Given the description of an element on the screen output the (x, y) to click on. 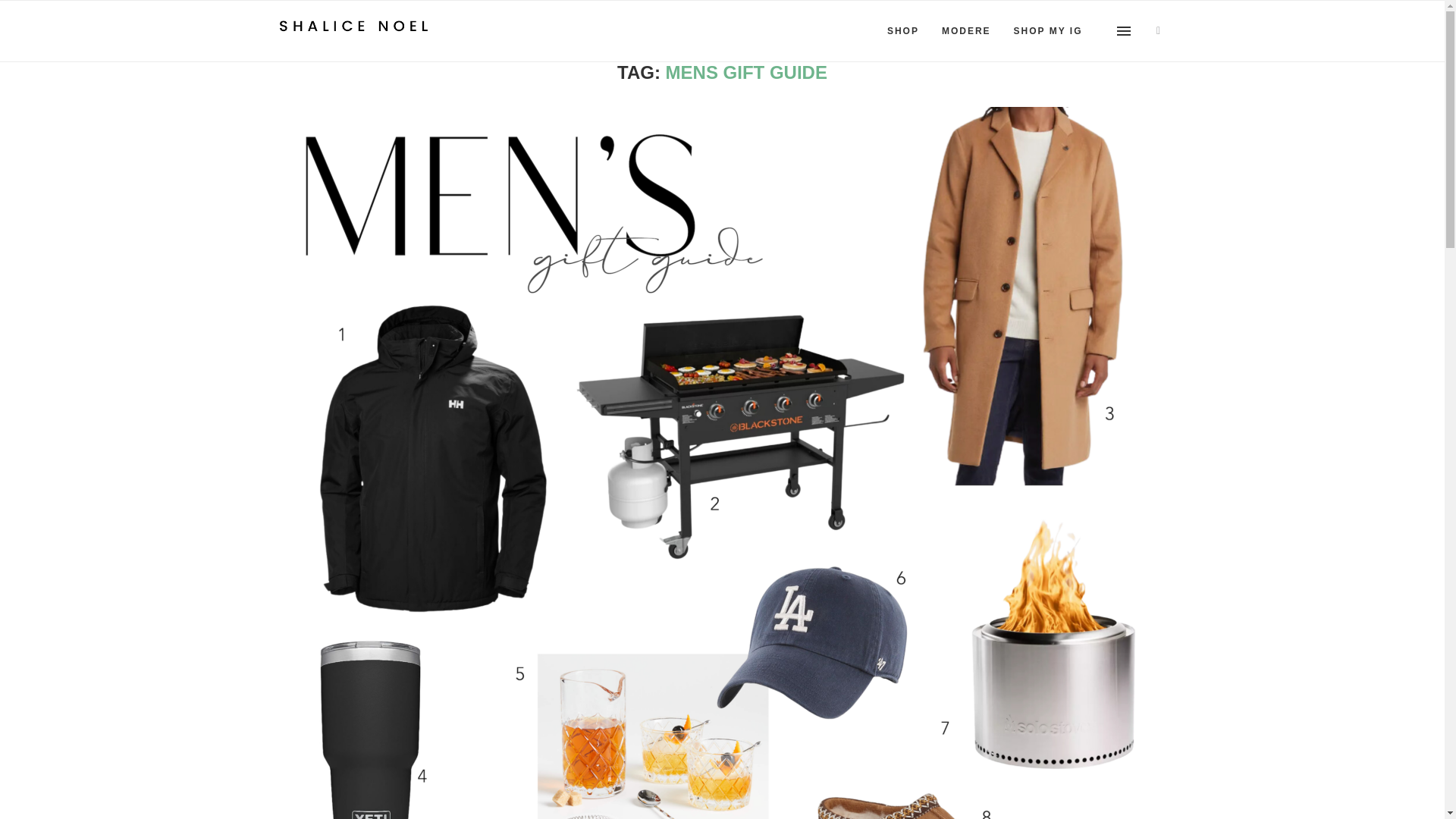
SHOP (902, 30)
MODERE (966, 30)
SHOP MY IG (1048, 30)
